Given the description of an element on the screen output the (x, y) to click on. 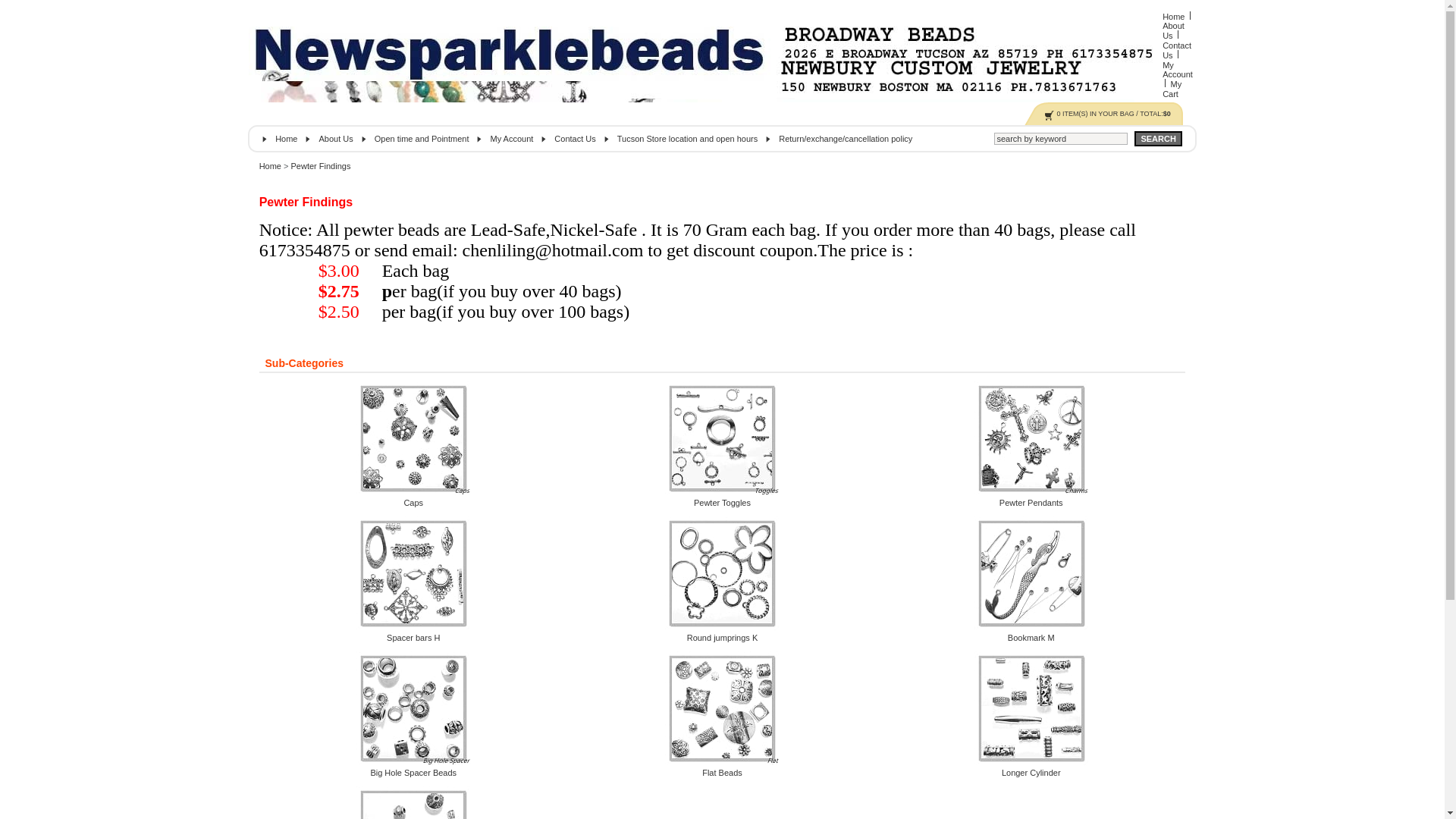
Home Element type: text (1174, 16)
About Us Element type: text (1173, 30)
Contact Us Element type: text (1176, 49)
Round jumprings K Element type: text (722, 637)
Home Element type: text (286, 138)
My Account Element type: text (1177, 69)
Return/exchange/cancellation policy Element type: text (845, 138)
Tucson Store location and open hours Element type: text (687, 138)
Pewter Toggles Element type: text (721, 502)
Caps Element type: text (413, 502)
About Us Element type: text (335, 138)
Longer Cylinder Element type: text (1030, 772)
Spacer bars H Element type: text (412, 637)
Pewter Findings Element type: text (321, 165)
My Account Element type: text (511, 138)
Bookmark M Element type: text (1030, 637)
My Cart Element type: text (1171, 88)
Open time and Pointment Element type: text (421, 138)
SEARCH Element type: text (1157, 138)
Flat Beads Element type: text (722, 772)
Big Hole Spacer Beads Element type: text (413, 772)
Home Element type: text (270, 165)
Pewter Pendants Element type: text (1031, 502)
Contact Us Element type: text (574, 138)
